Given the description of an element on the screen output the (x, y) to click on. 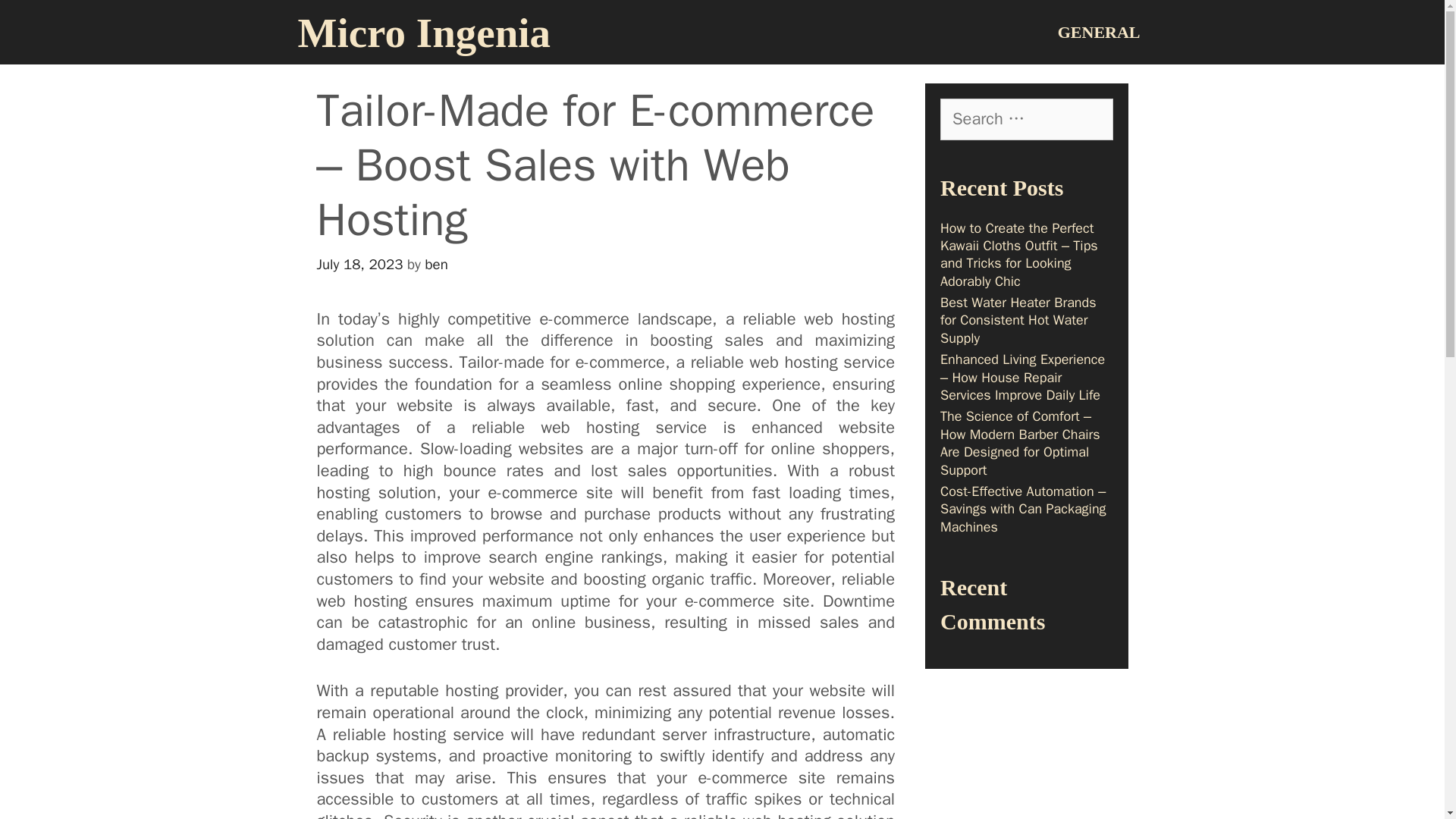
Best Water Heater Brands for Consistent Hot Water Supply (1018, 320)
GENERAL (1099, 31)
View all posts by ben (436, 264)
Search (50, 20)
ben (436, 264)
Micro Ingenia (423, 32)
July 18, 2023 (360, 264)
3:48 pm (360, 264)
Search for: (1026, 119)
